Given the description of an element on the screen output the (x, y) to click on. 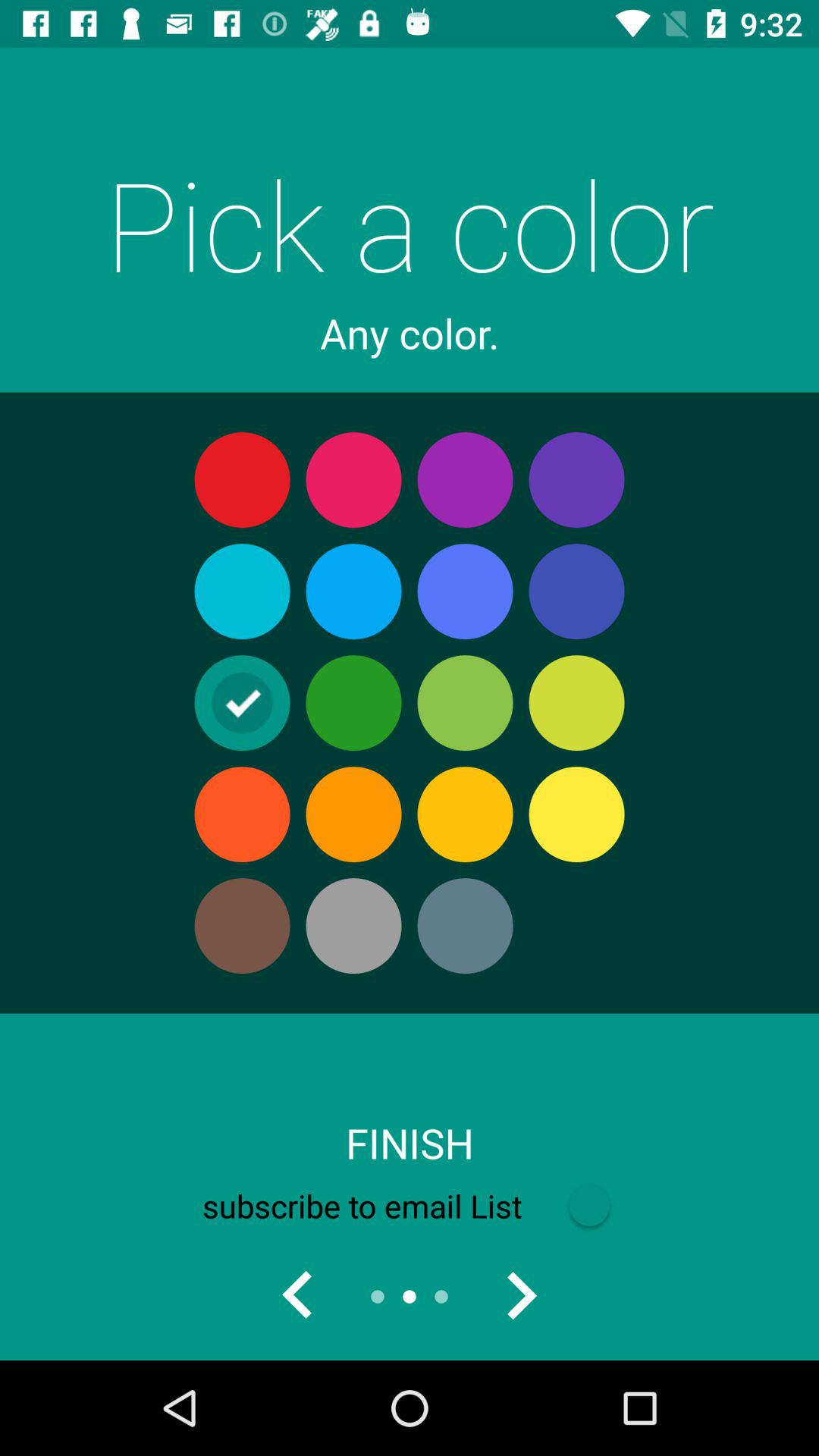
select item above the subscribe to email icon (409, 1143)
